Given the description of an element on the screen output the (x, y) to click on. 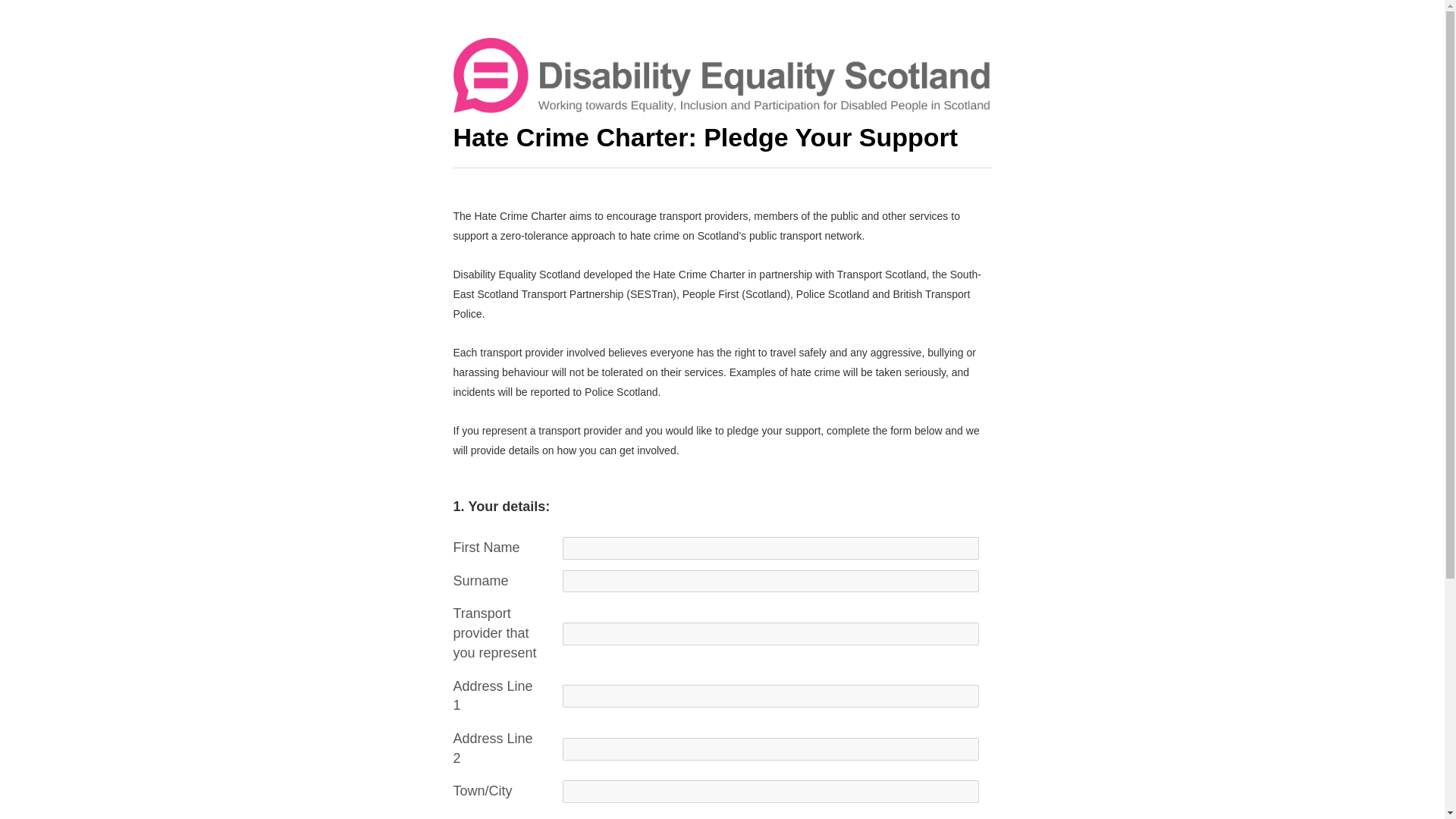
Question 1.  (460, 506)
